Given the description of an element on the screen output the (x, y) to click on. 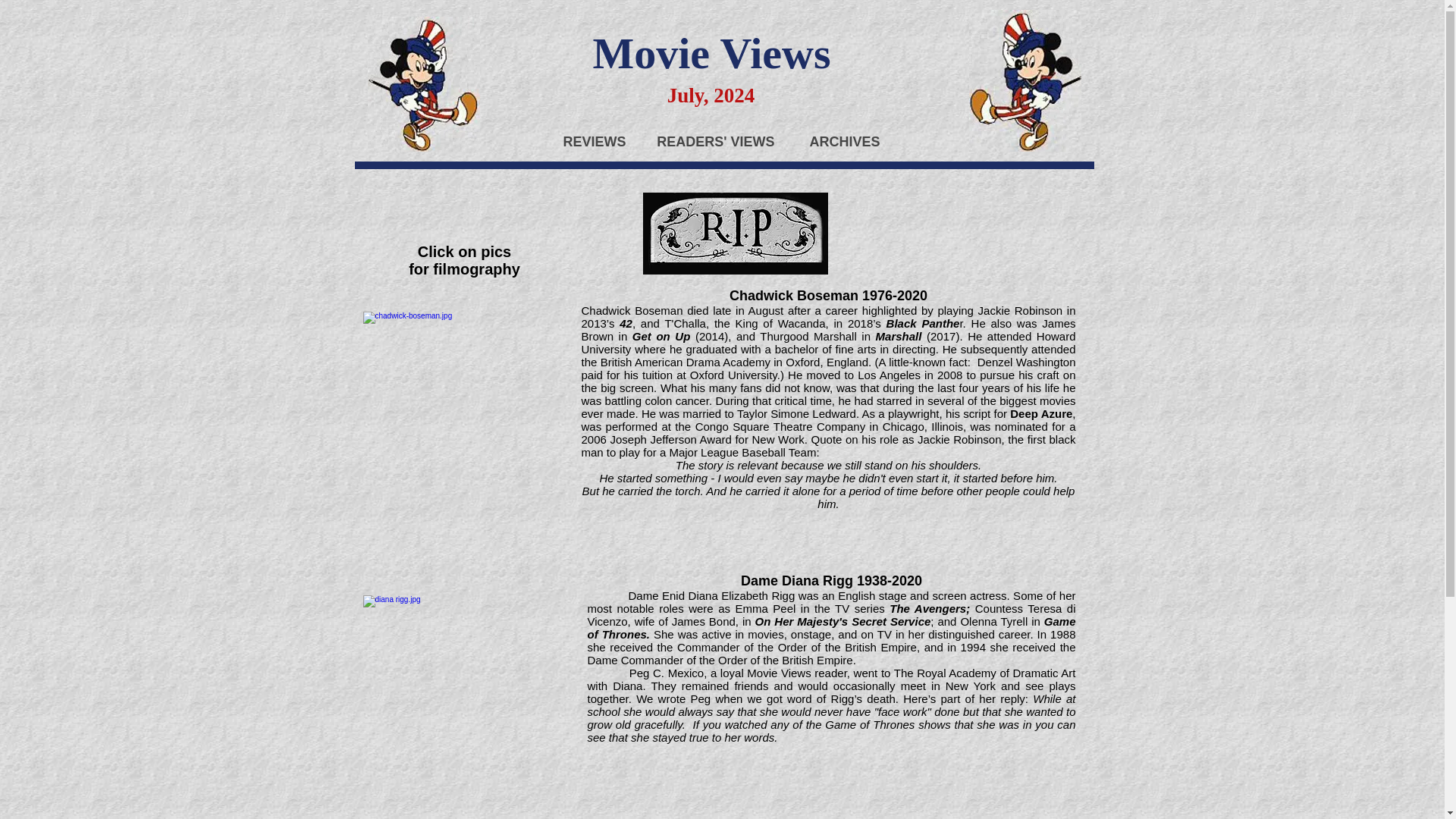
READERS' VIEWS (711, 141)
ARCHIVES (838, 141)
REVIEWS (587, 141)
